Given the description of an element on the screen output the (x, y) to click on. 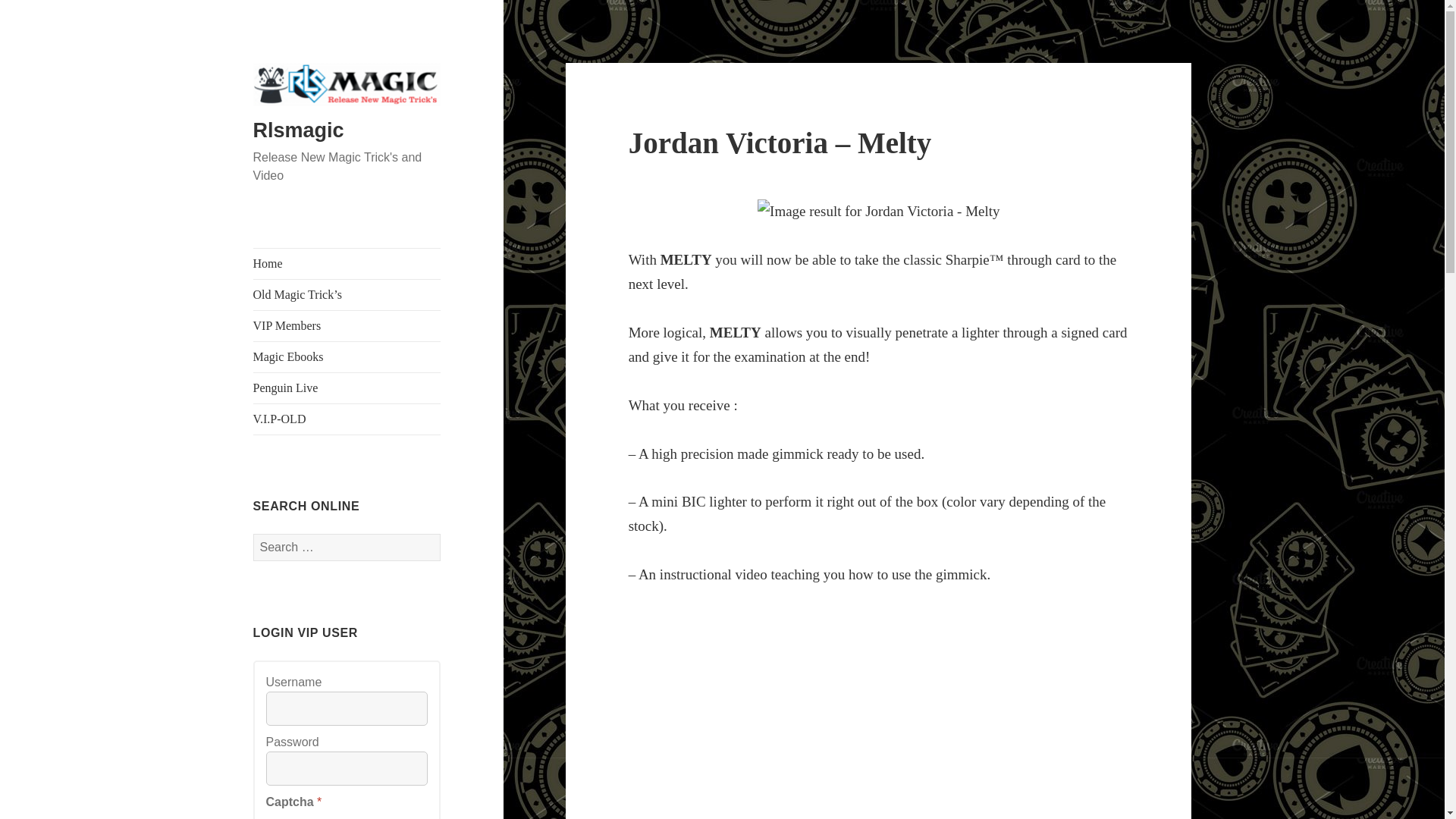
Home (347, 263)
Please enter password (347, 768)
Magic Ebooks (347, 357)
Please enter username (347, 708)
VIP Members (347, 326)
V.I.P-OLD (347, 419)
Penguin Live (347, 388)
Rlsmagic (298, 129)
